Given the description of an element on the screen output the (x, y) to click on. 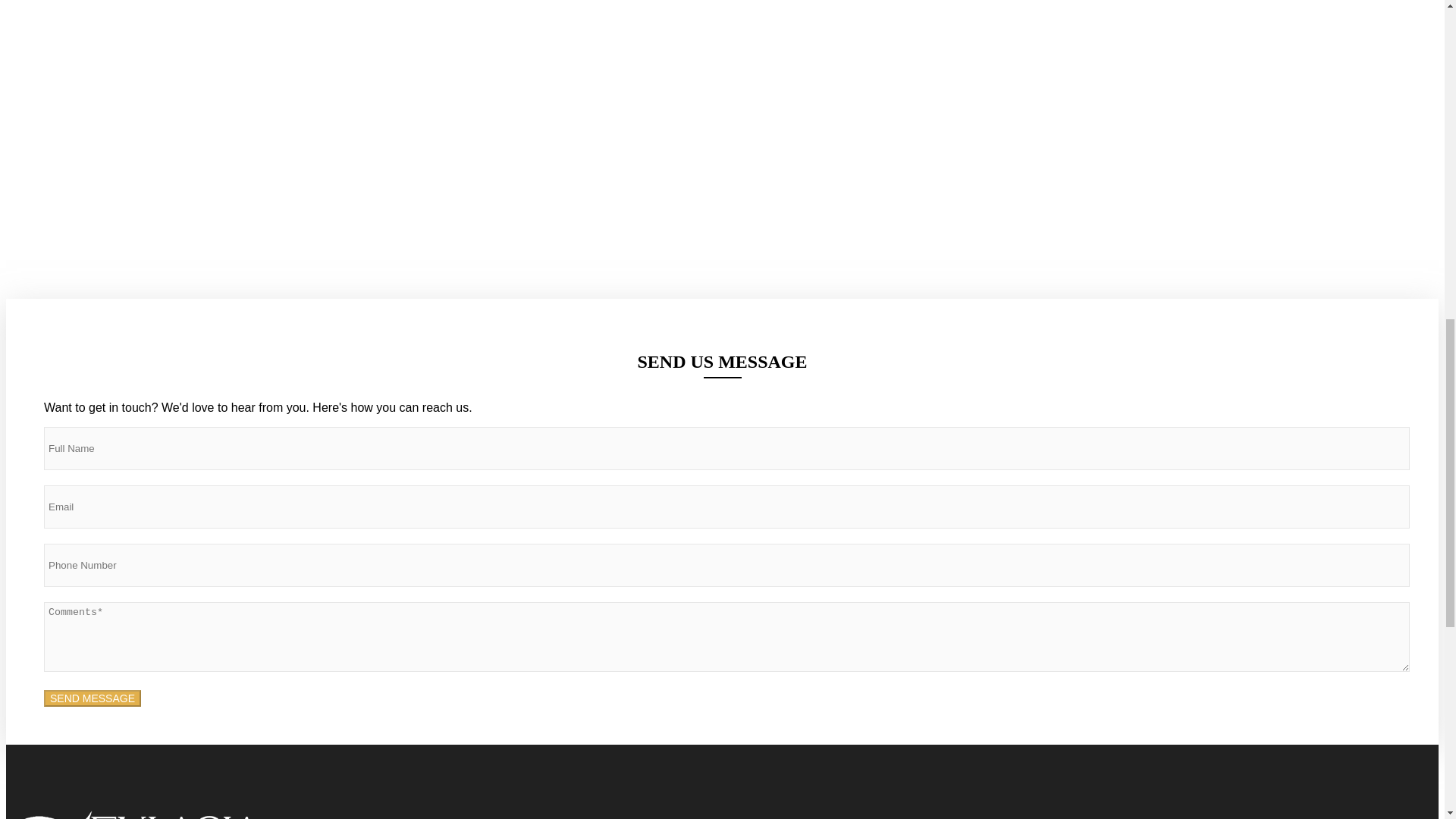
SEND MESSAGE (92, 698)
